Given the description of an element on the screen output the (x, y) to click on. 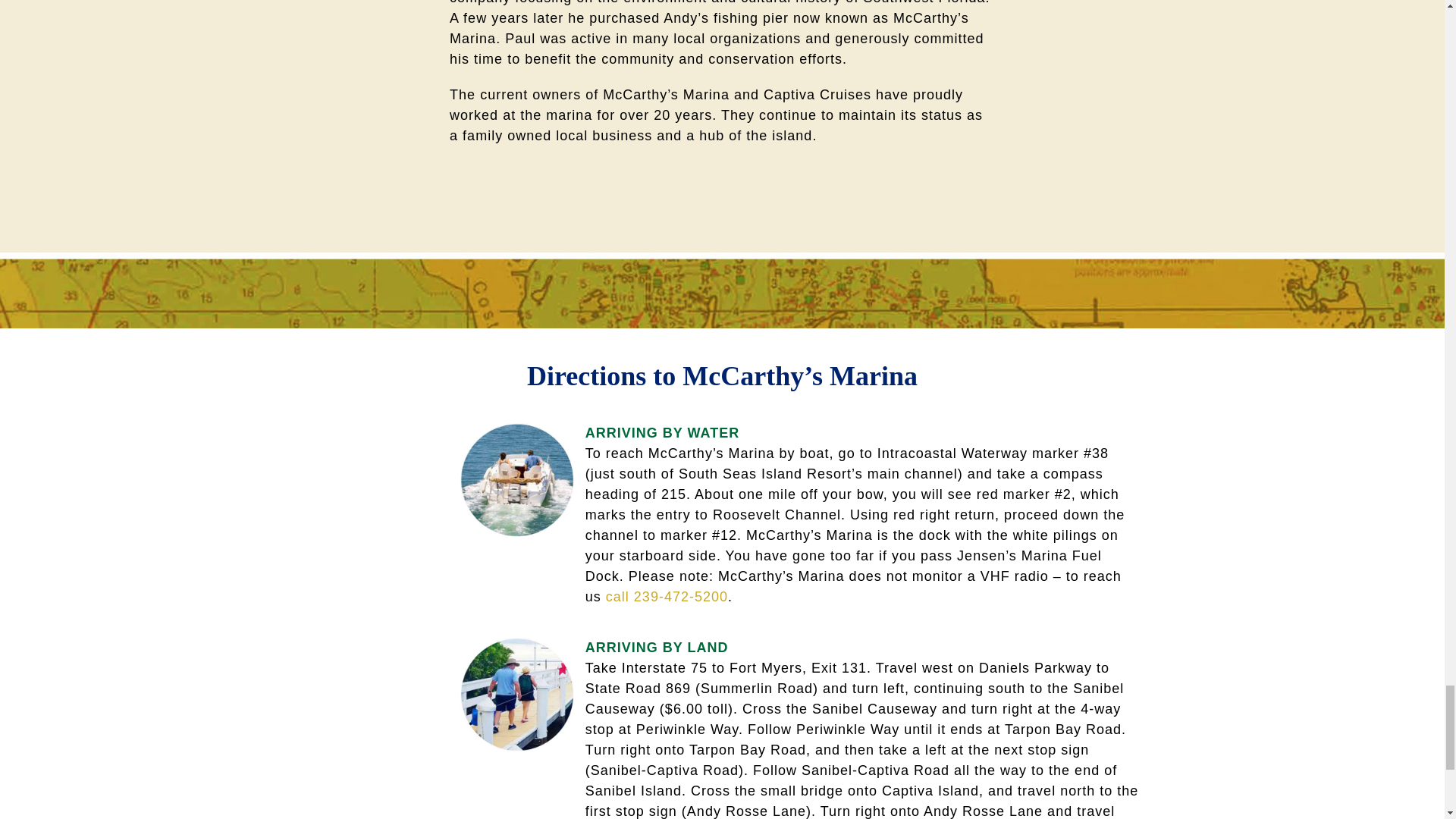
Couple-on-boat-arriving-to-the-marina-by-water (516, 480)
Couple-on-boat-arriving-to-the-marina-by-land (516, 694)
